Given the description of an element on the screen output the (x, y) to click on. 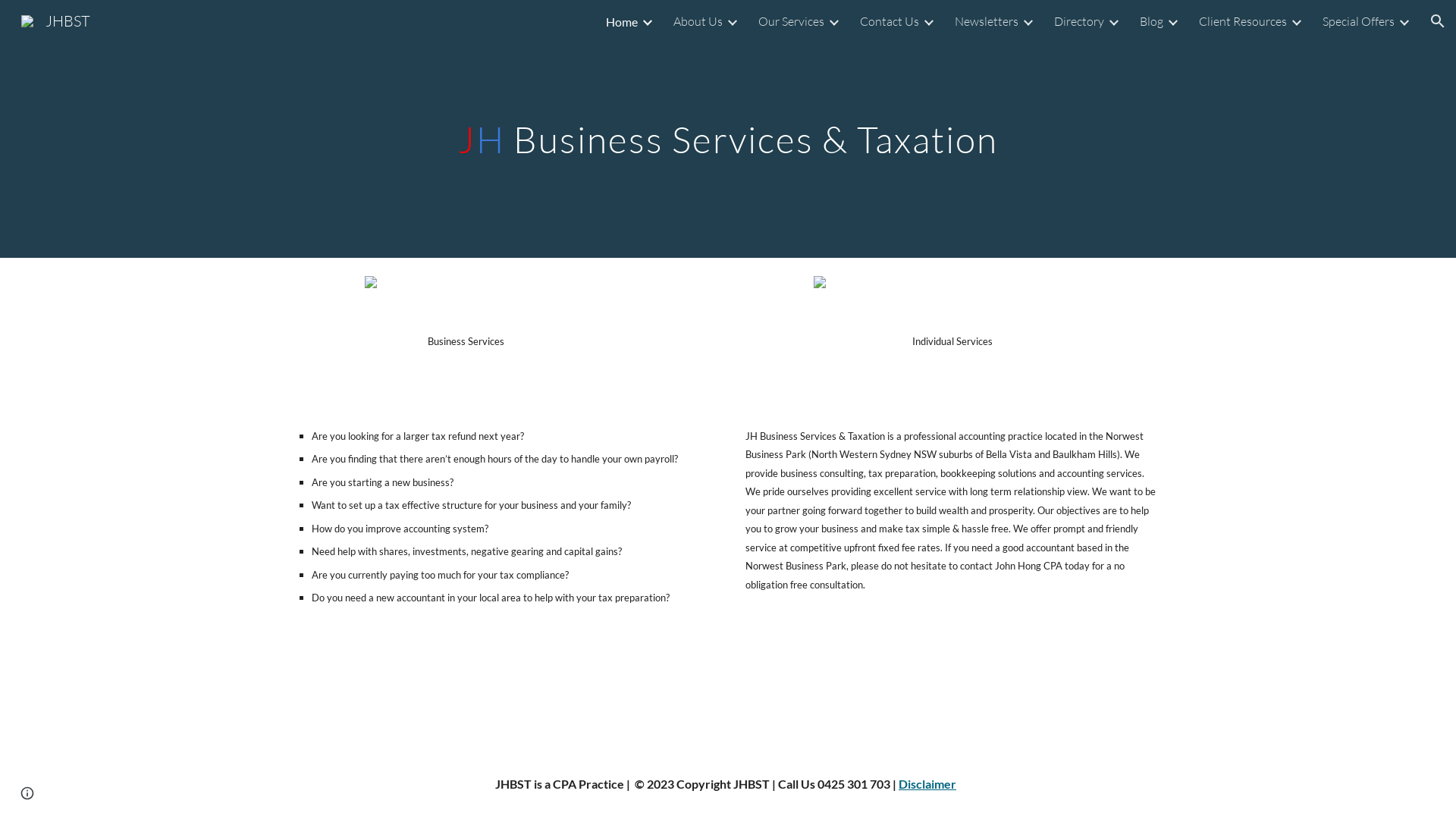
Expand/Collapse Element type: hover (646, 20)
Client Resources Element type: text (1242, 20)
Expand/Collapse Element type: hover (928, 20)
Expand/Collapse Element type: hover (1172, 20)
Expand/Collapse Element type: hover (833, 20)
Expand/Collapse Element type: hover (1295, 20)
Directory Element type: text (1079, 20)
JHBST Element type: text (55, 18)
Our Services Element type: text (791, 20)
Expand/Collapse Element type: hover (1113, 20)
Newsletters Element type: text (986, 20)
About Us Element type: text (697, 20)
Disclaimer Element type: text (927, 784)
Expand/Collapse Element type: hover (731, 20)
Contact Us Element type: text (889, 20)
Expand/Collapse Element type: hover (1027, 20)
Blog Element type: text (1151, 20)
Special Offers Element type: text (1358, 20)
Home Element type: text (621, 20)
Expand/Collapse Element type: hover (1403, 20)
